Given the description of an element on the screen output the (x, y) to click on. 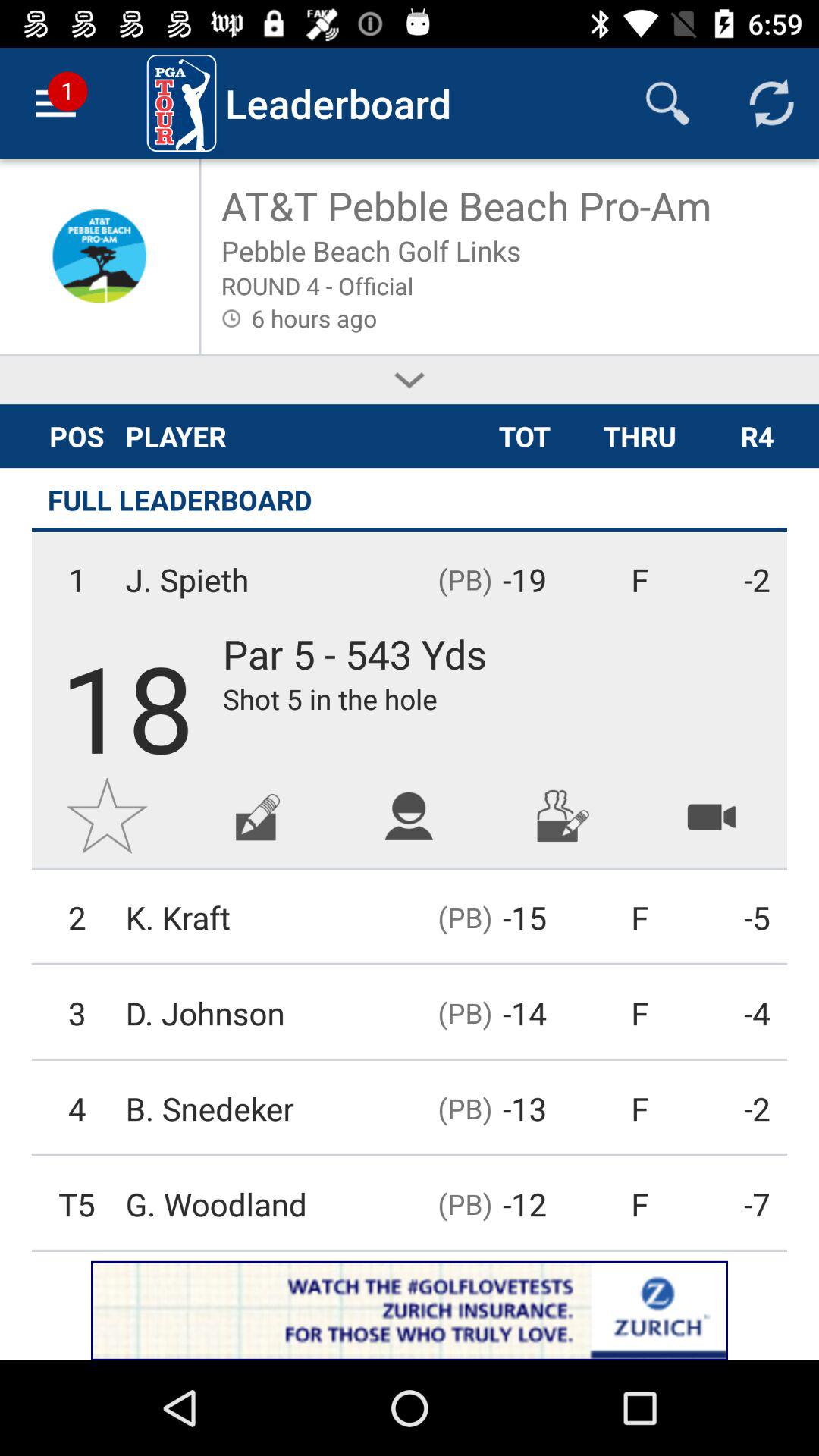
the insurance company (409, 1310)
